Given the description of an element on the screen output the (x, y) to click on. 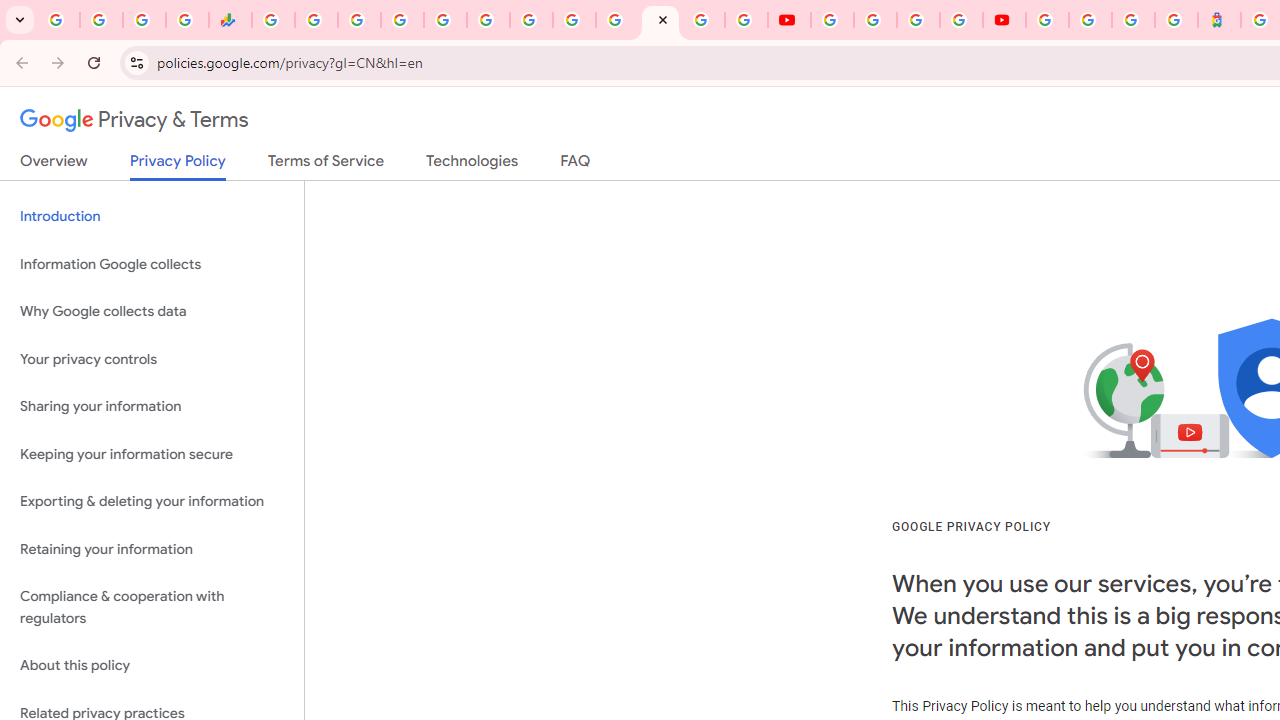
YouTube (789, 20)
Google Account Help (875, 20)
